Given the description of an element on the screen output the (x, y) to click on. 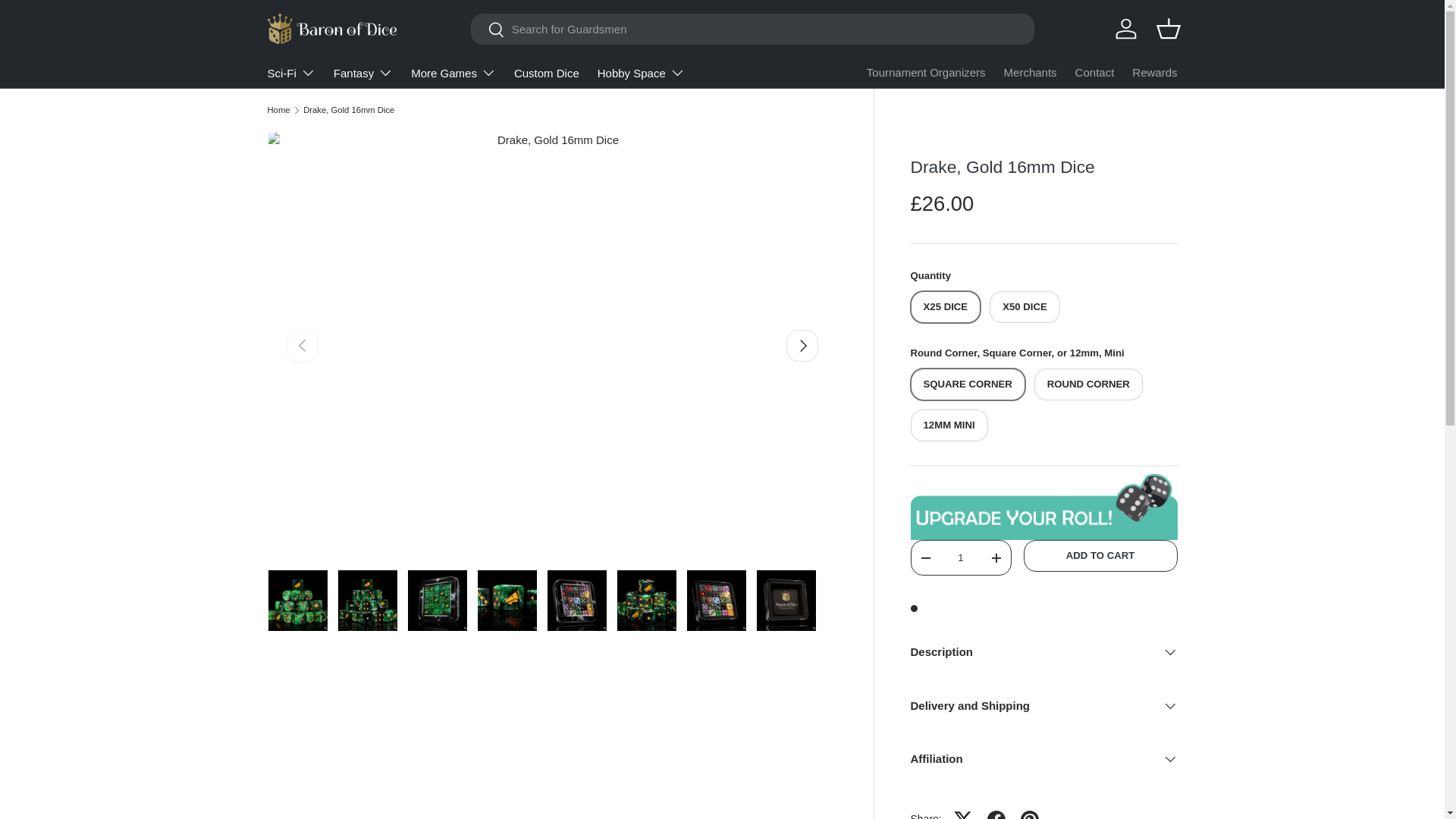
Fantasy (363, 72)
Basket (1168, 28)
SKIP TO CONTENT (68, 21)
Share on Facebook (996, 811)
Search (487, 29)
Sci-Fi (290, 72)
